Given the description of an element on the screen output the (x, y) to click on. 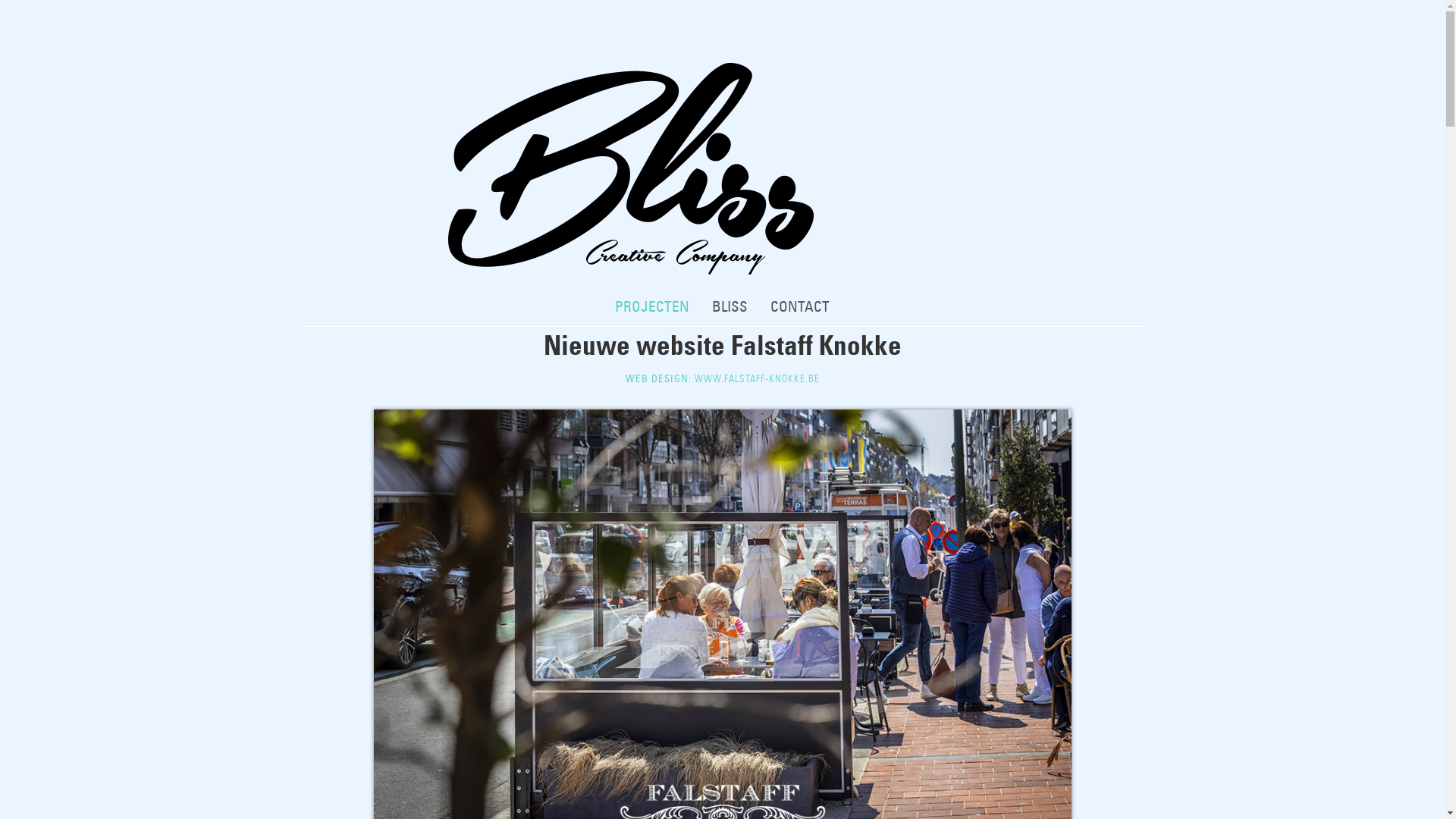
PROJECTEN Element type: text (651, 307)
BLISS Element type: text (729, 307)
WWW.FALSTAFF-KNOKKE.BE Element type: text (756, 379)
CONTACT Element type: text (799, 307)
